Given the description of an element on the screen output the (x, y) to click on. 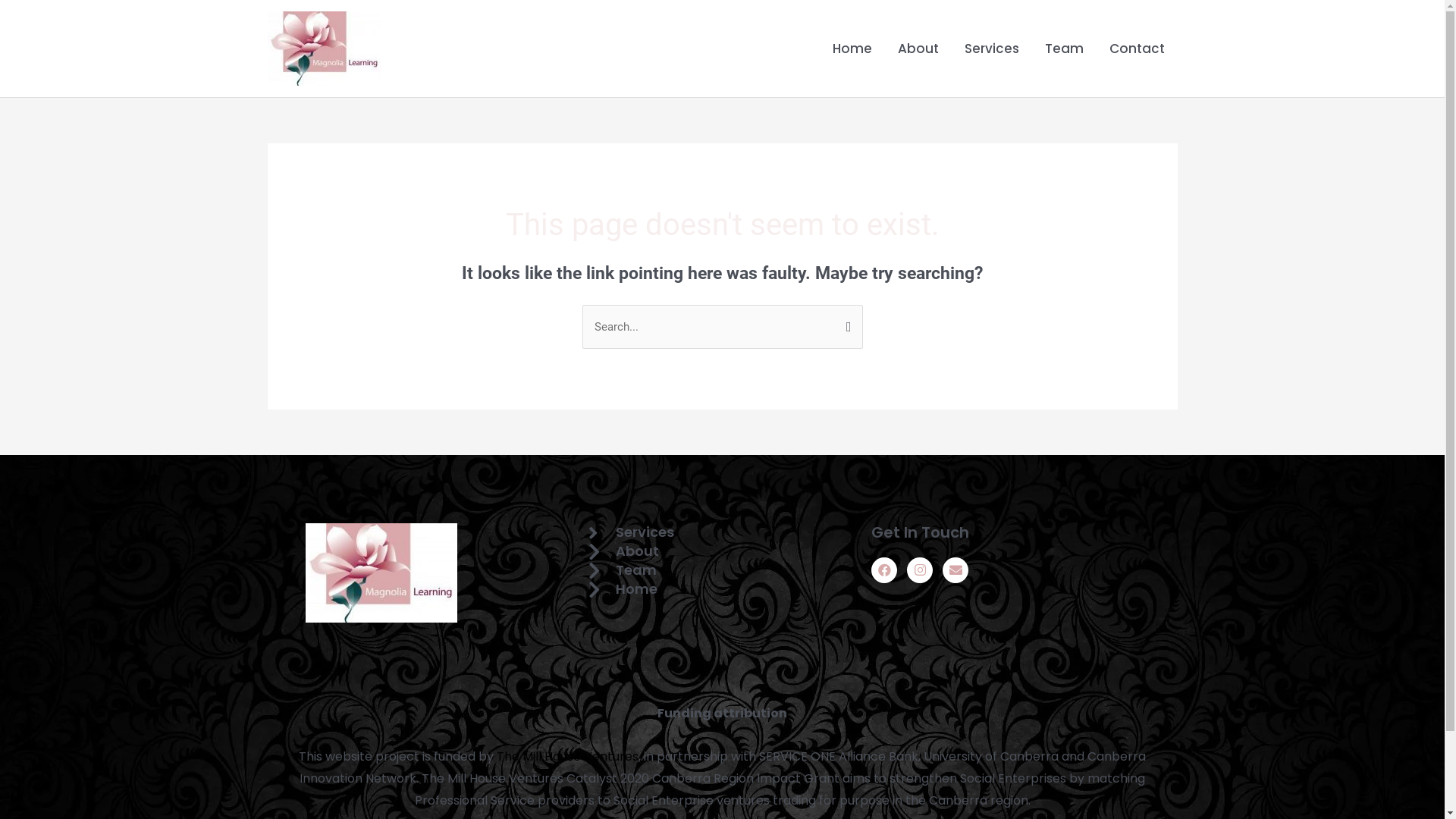
Services Element type: text (990, 48)
Team Element type: text (1063, 48)
About Element type: text (623, 551)
About Element type: text (917, 48)
Services Element type: text (631, 532)
cropped-07-05-21-flower-scaled-e1620961922815.jpg Element type: hover (380, 572)
Team Element type: text (622, 570)
Contact Element type: text (1136, 48)
Home Element type: text (622, 589)
Home Element type: text (851, 48)
Facebook Element type: text (884, 570)
Envelope Element type: text (955, 570)
Search Element type: text (845, 319)
The Mill House Ventures Element type: text (567, 756)
Instagram Element type: text (919, 570)
